Given the description of an element on the screen output the (x, y) to click on. 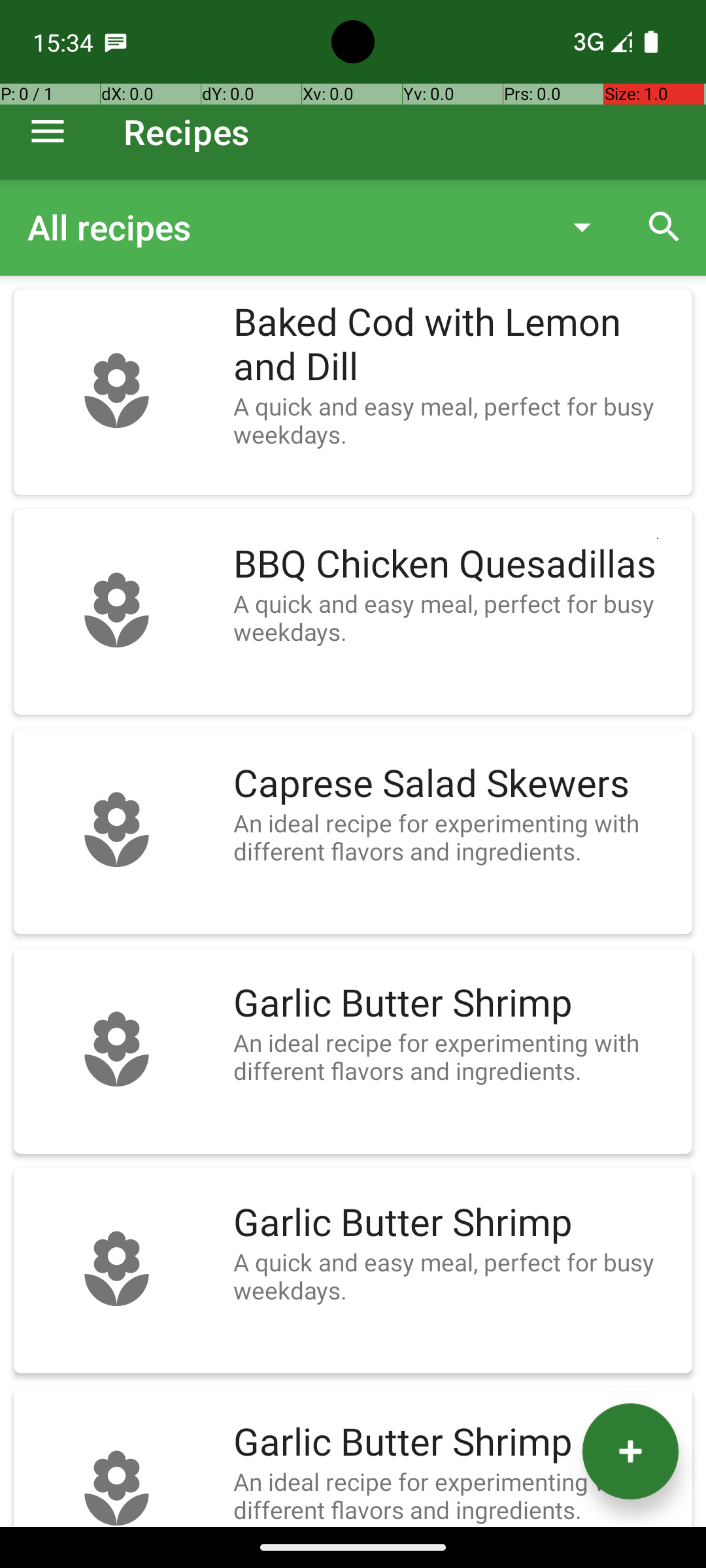
Garlic Butter Shrimp Element type: android.widget.TextView (455, 1003)
